Given the description of an element on the screen output the (x, y) to click on. 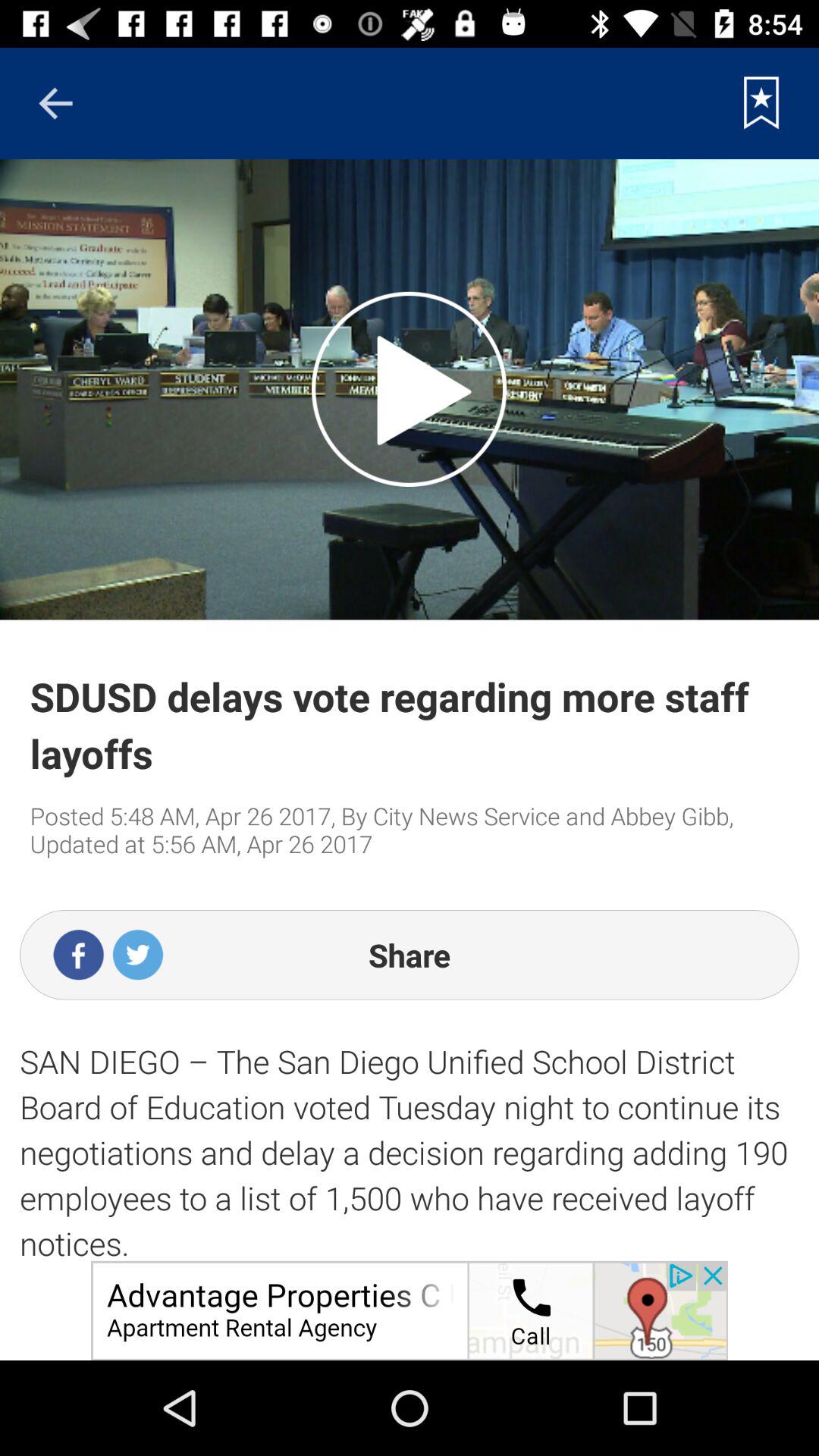
favorite current news (761, 102)
